Given the description of an element on the screen output the (x, y) to click on. 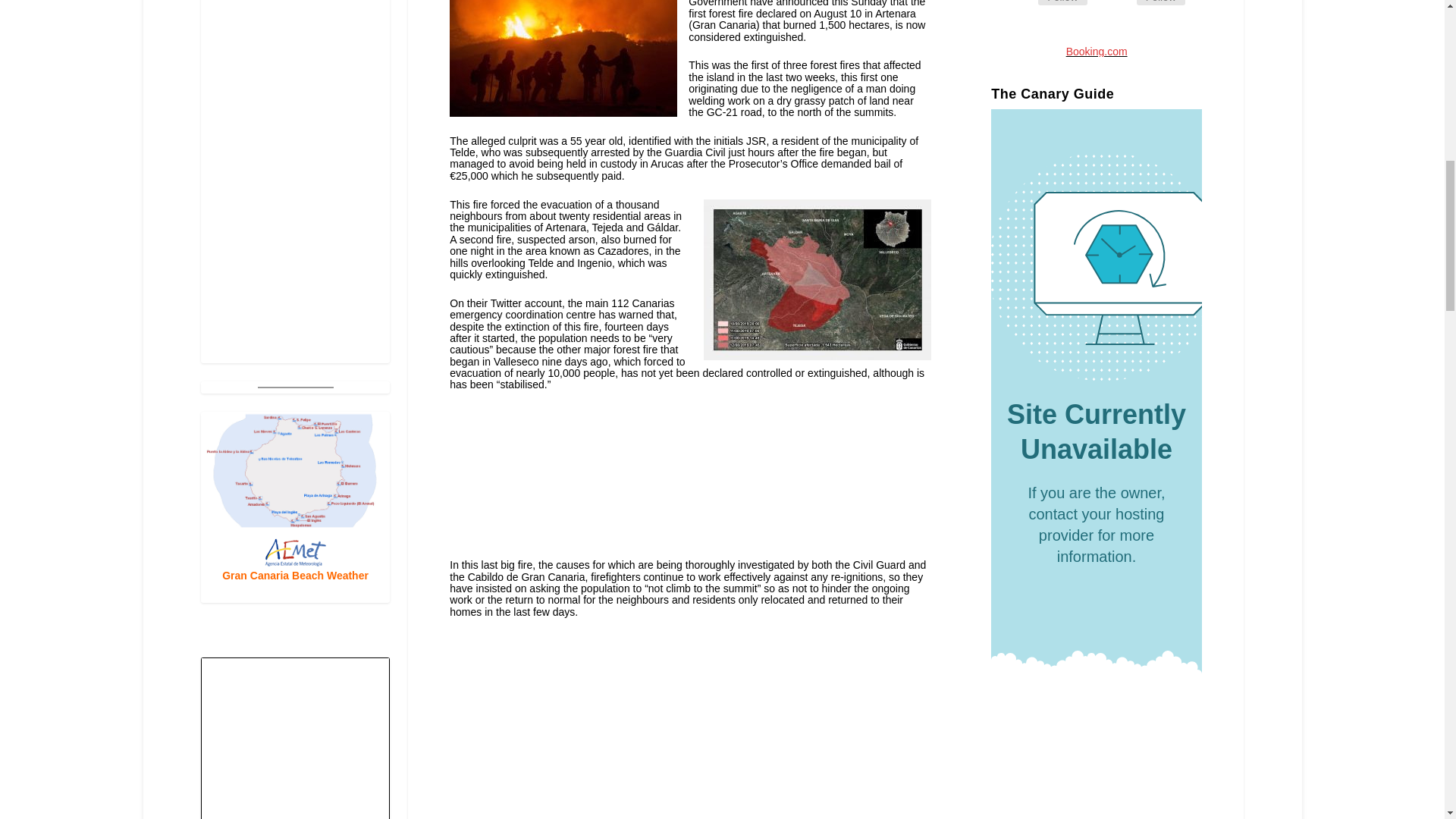
Booking.com (1095, 51)
Facebook (1062, 2)
Follow on Twitter (1118, 4)
Follow (1062, 2)
Follow on Facebook (1019, 4)
